Given the description of an element on the screen output the (x, y) to click on. 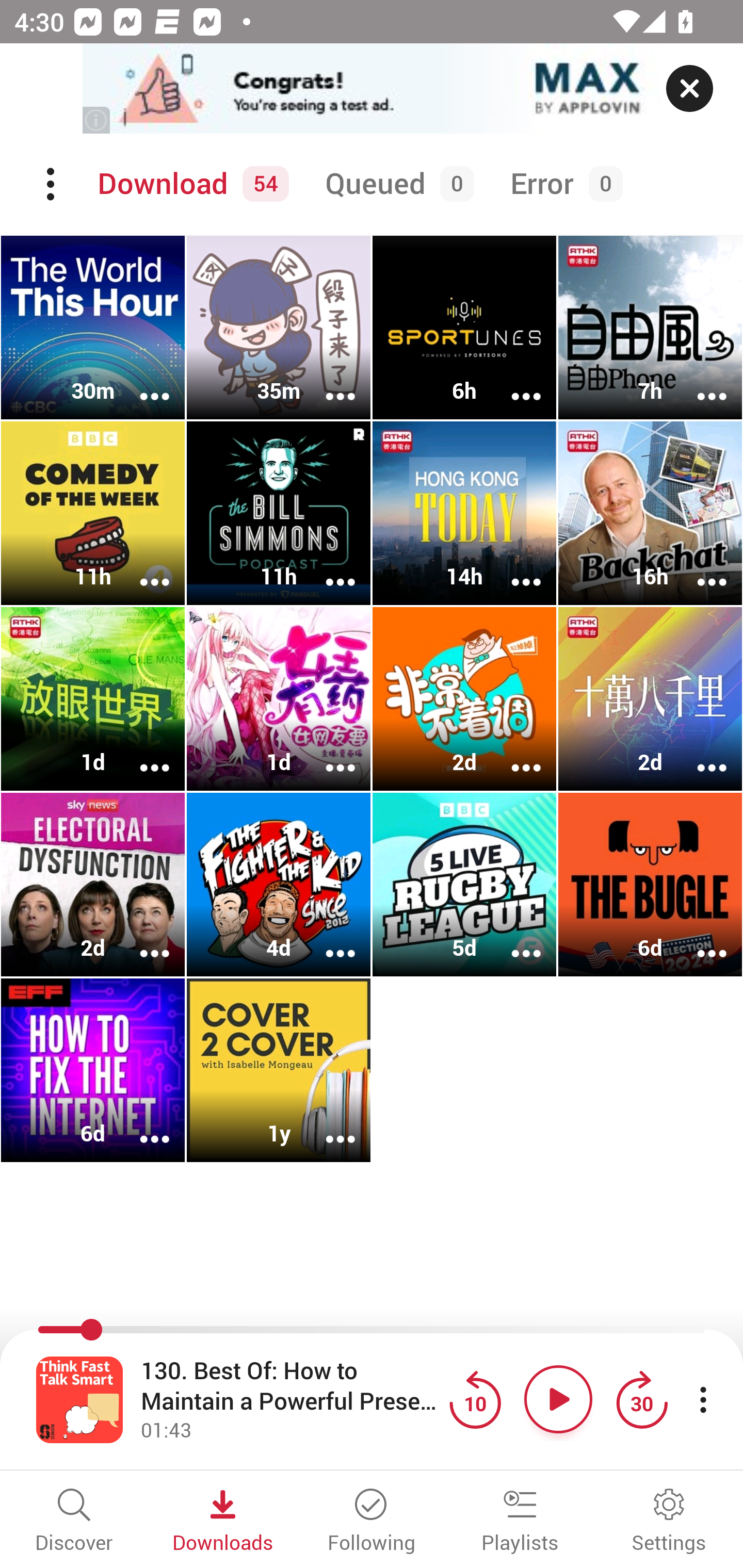
app-monetization (371, 88)
(i) (96, 119)
Menu (52, 184)
 Download 54 (189, 184)
 Queued 0 (396, 184)
 Error 0 (562, 184)
The World This Hour 30m More options More options (92, 327)
段子来了 35m More options More options (278, 327)
Sportunes HK 6h More options More options (464, 327)
自由风自由PHONE 7h More options More options (650, 327)
More options (141, 382)
More options (326, 382)
More options (512, 382)
More options (698, 382)
Comedy of the Week 11h More options More options (92, 513)
Hong Kong Today 14h More options More options (464, 513)
Backchat 16h More options More options (650, 513)
More options (141, 569)
More options (326, 569)
More options (512, 569)
More options (698, 569)
放眼世界 1d More options More options (92, 698)
女王有药丨爆笑脱口秀 1d More options More options (278, 698)
非常不着调 2d More options More options (464, 698)
十萬八千里 2d More options More options (650, 698)
More options (141, 754)
More options (326, 754)
More options (512, 754)
More options (698, 754)
Electoral Dysfunction 2d More options More options (92, 883)
The Fighter & The Kid 4d More options More options (278, 883)
5 Live Rugby League 5d More options More options (464, 883)
The Bugle 6d More options More options (650, 883)
More options (141, 940)
More options (326, 940)
More options (512, 940)
More options (698, 940)
Cover 2 Cover 1y More options More options (278, 1069)
More options (141, 1125)
More options (326, 1125)
Open fullscreen player (79, 1399)
More player controls (703, 1399)
Play button (558, 1398)
Jump back (475, 1399)
Jump forward (641, 1399)
Discover (74, 1521)
Downloads (222, 1521)
Following (371, 1521)
Playlists (519, 1521)
Settings (668, 1521)
